Given the description of an element on the screen output the (x, y) to click on. 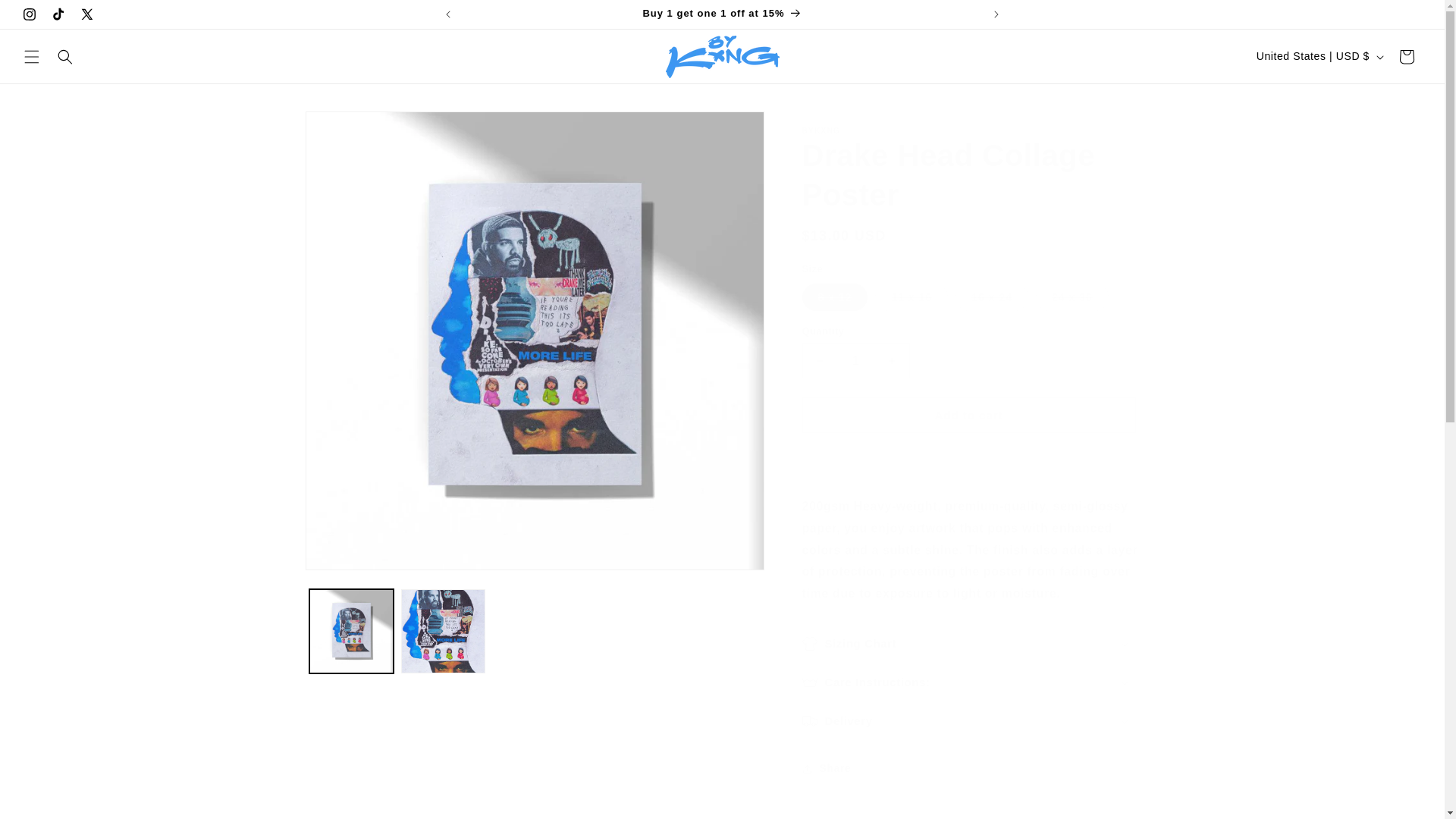
Skip to product information (350, 128)
1 (856, 360)
Cart (1406, 55)
TikTok (57, 14)
Instagram (28, 14)
Skip to content (45, 17)
Decrease quantity for Drake Head Collage Poster (818, 360)
